Given the description of an element on the screen output the (x, y) to click on. 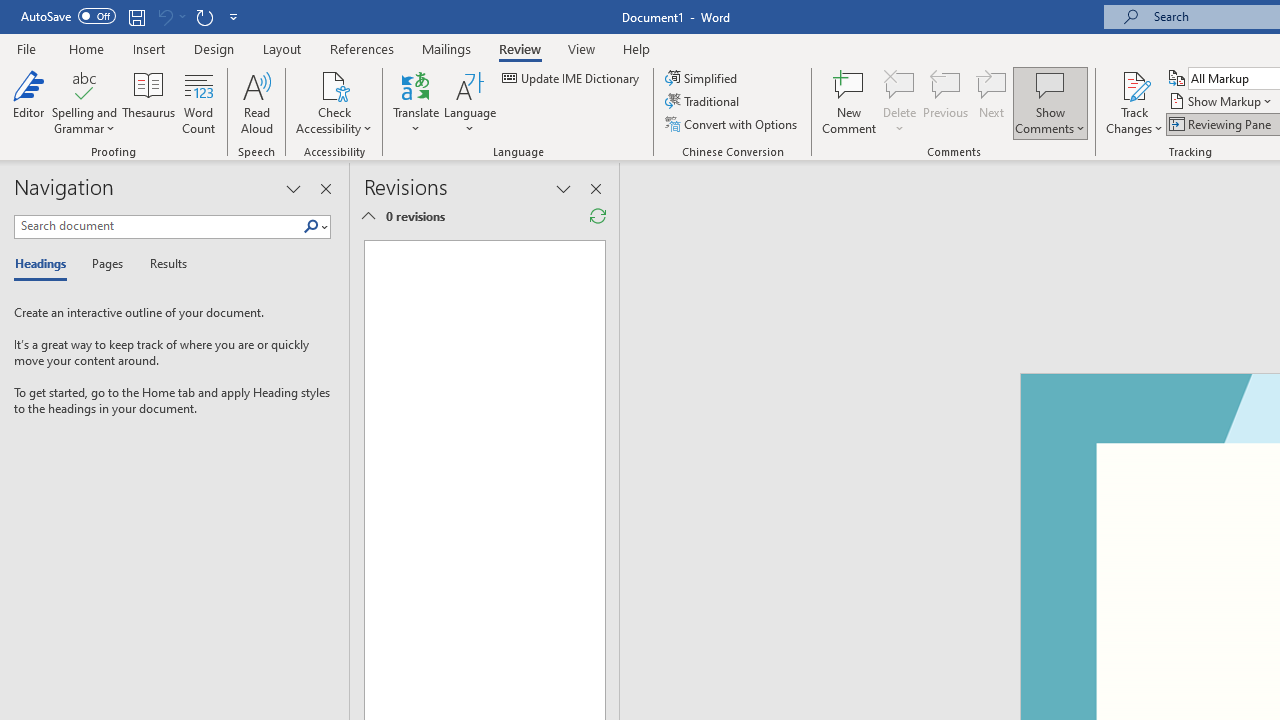
Read Aloud (256, 102)
Language (470, 102)
Convert with Options... (732, 124)
Can't Undo (170, 15)
Thesaurus... (148, 102)
Reviewing Pane (1221, 124)
Show Markup (1222, 101)
Check Accessibility (334, 102)
Update IME Dictionary... (572, 78)
